Given the description of an element on the screen output the (x, y) to click on. 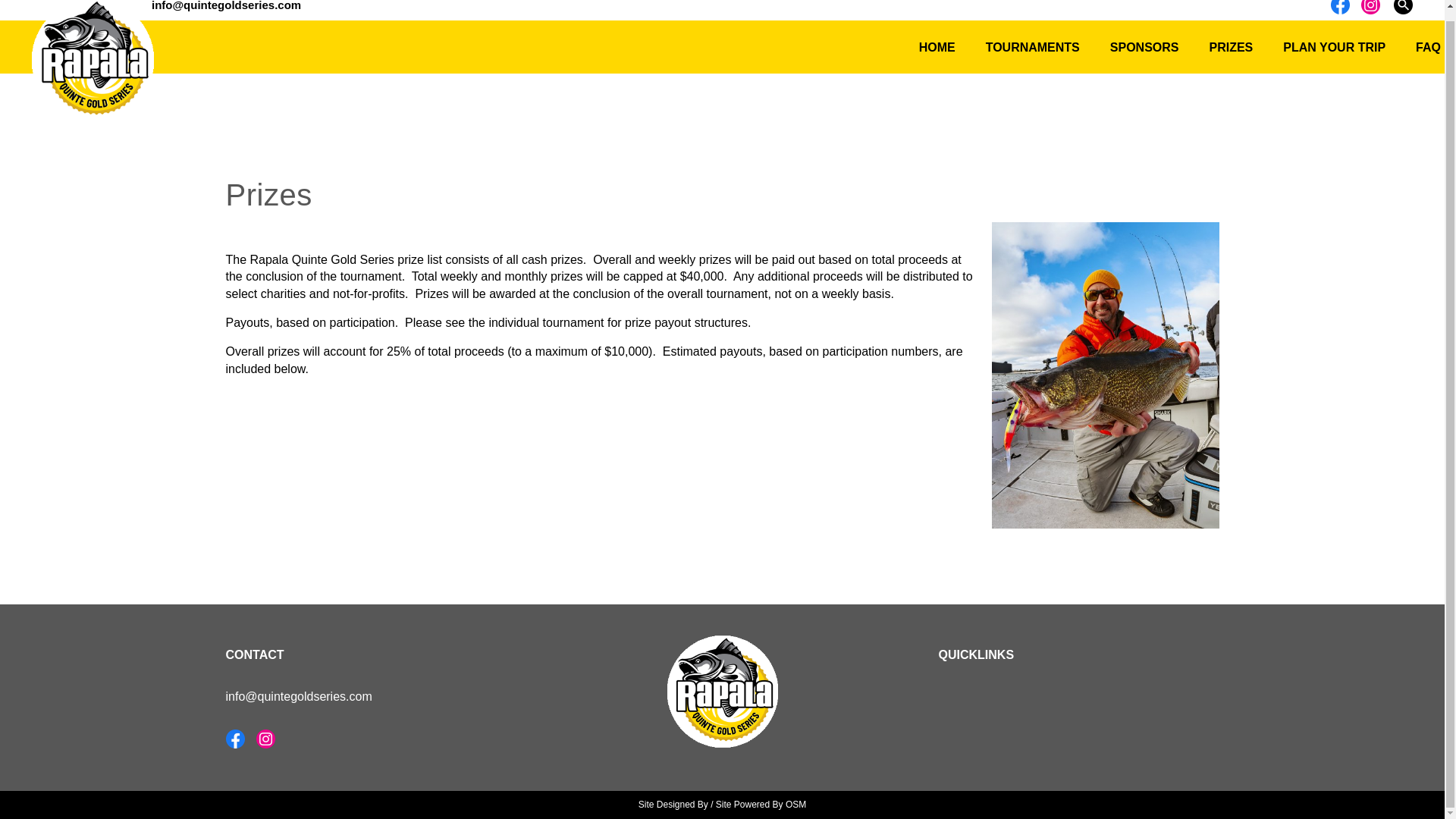
HOME (937, 46)
PLAN YOUR TRIP (1334, 46)
SPONSORS (1143, 46)
TOURNAMENTS (1032, 46)
PRIZES (1230, 46)
